Given the description of an element on the screen output the (x, y) to click on. 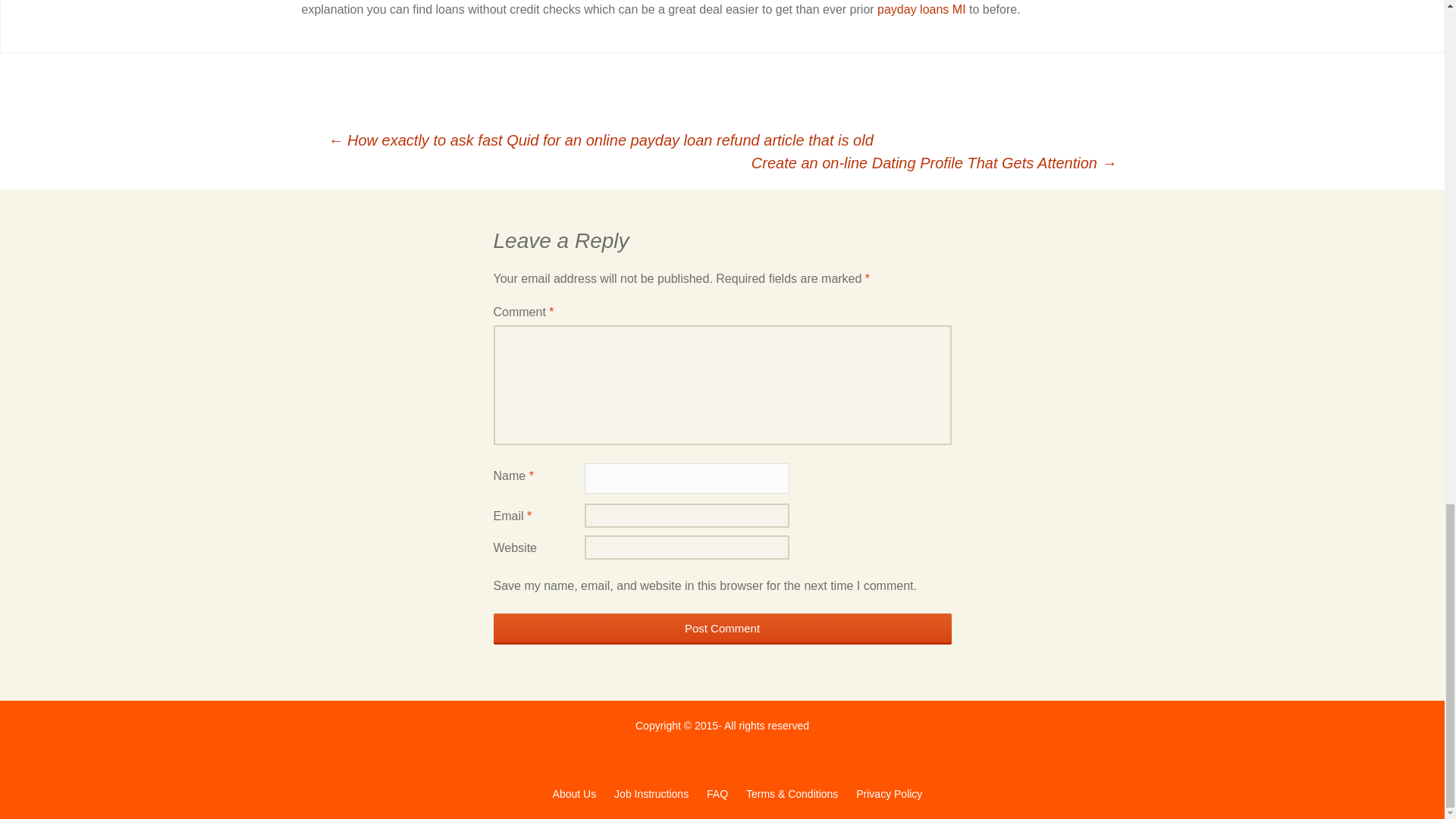
About Us (574, 793)
Semantic Personal Publishing Platform (574, 793)
Semantic Personal Publishing Platform (889, 793)
Post Comment (721, 628)
payday loans MI (921, 9)
Privacy Policy (889, 793)
Semantic Personal Publishing Platform (791, 793)
Post Comment (721, 628)
Job Instructions (651, 793)
FAQ (716, 793)
